Given the description of an element on the screen output the (x, y) to click on. 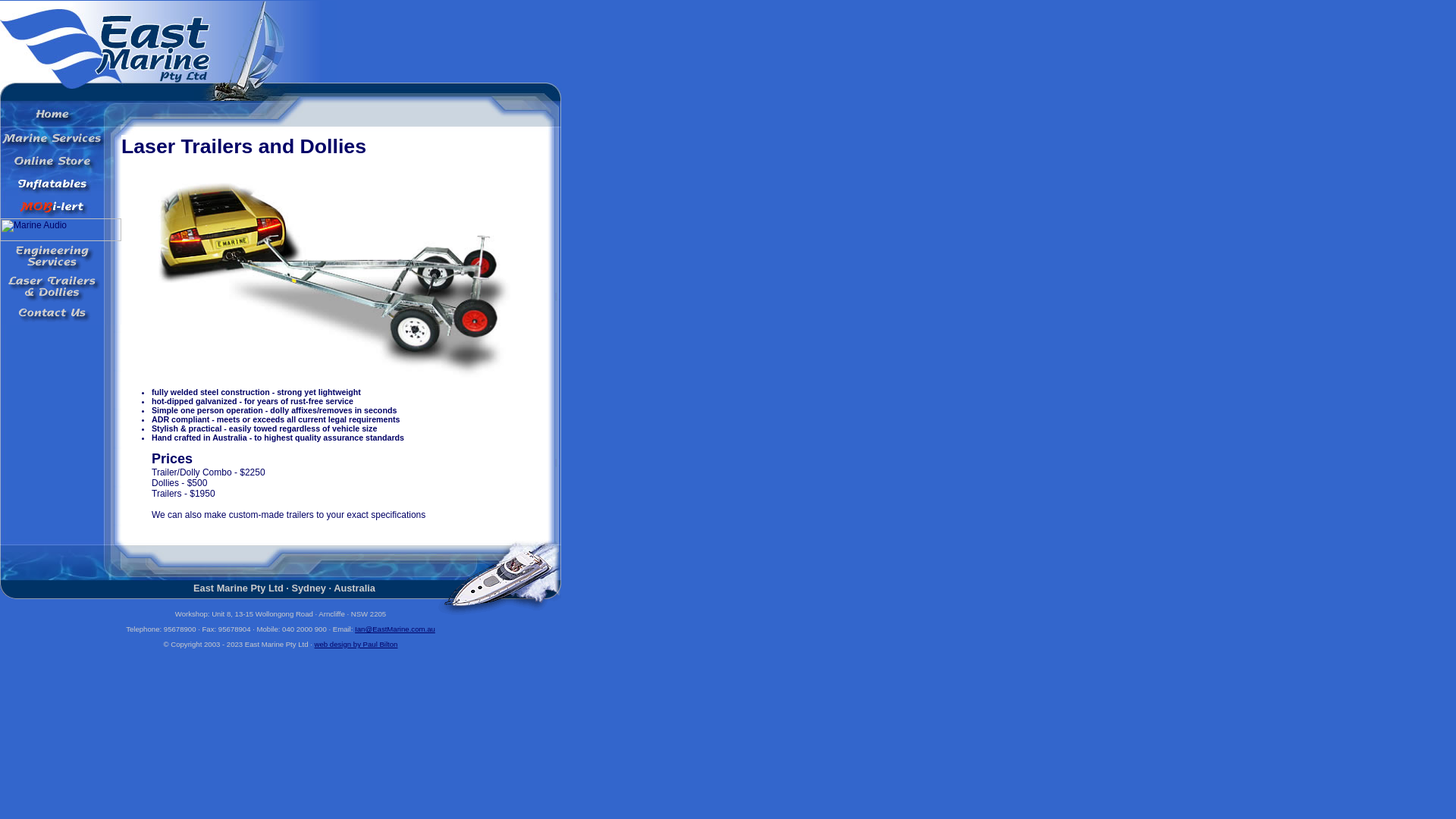
web design by Paul Bilton Element type: text (356, 644)
Ian@EastMarine.com.au Element type: text (394, 628)
